Given the description of an element on the screen output the (x, y) to click on. 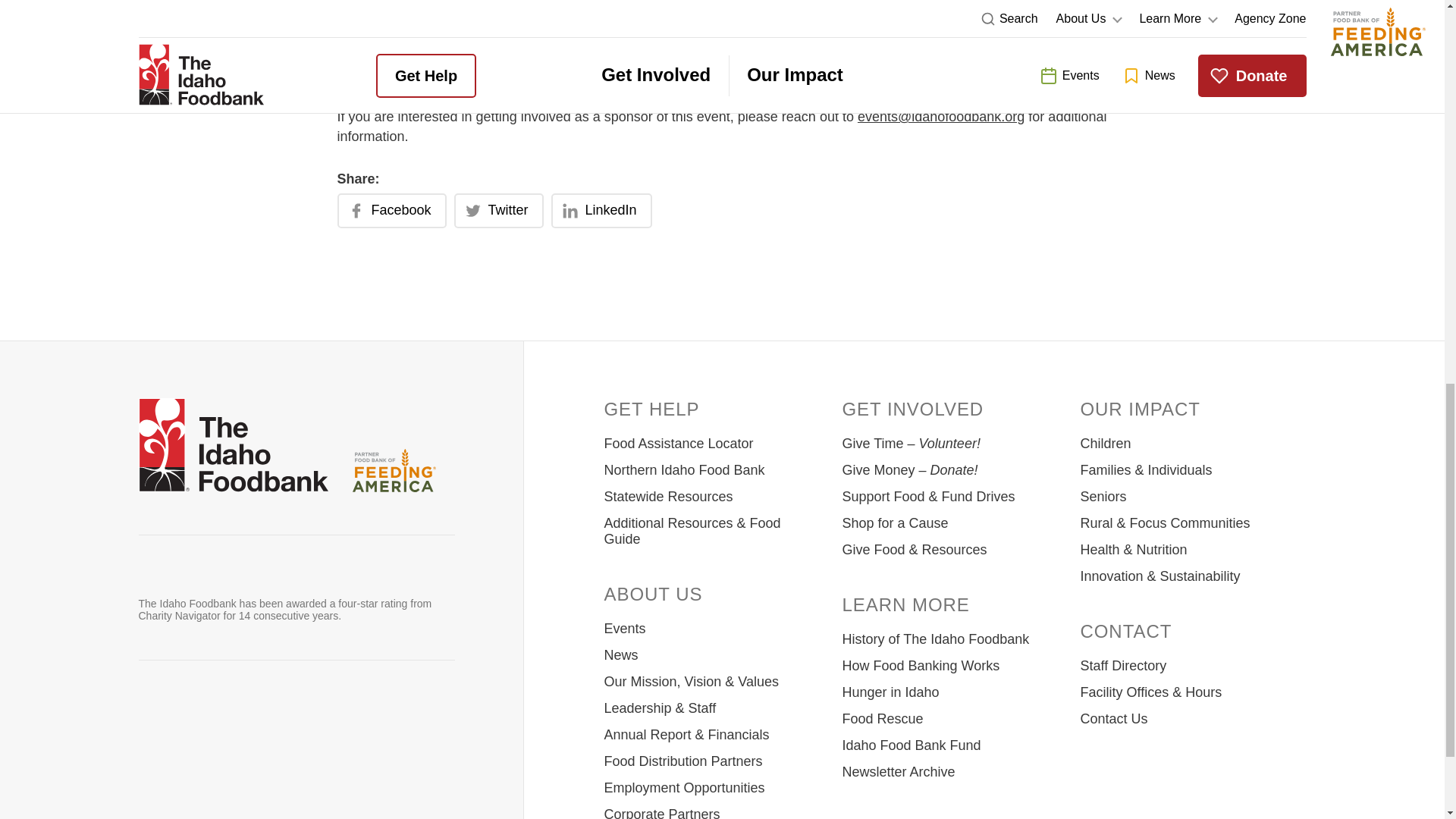
linkedin (349, 713)
Share: Twitter (498, 210)
Go to Home page (232, 447)
flickr (389, 713)
Share: Facebook (390, 210)
Share: LinkedIn (601, 210)
facebook (153, 713)
instagram (231, 713)
pinterest (310, 713)
youtube (271, 713)
twitter (192, 713)
